Given the description of an element on the screen output the (x, y) to click on. 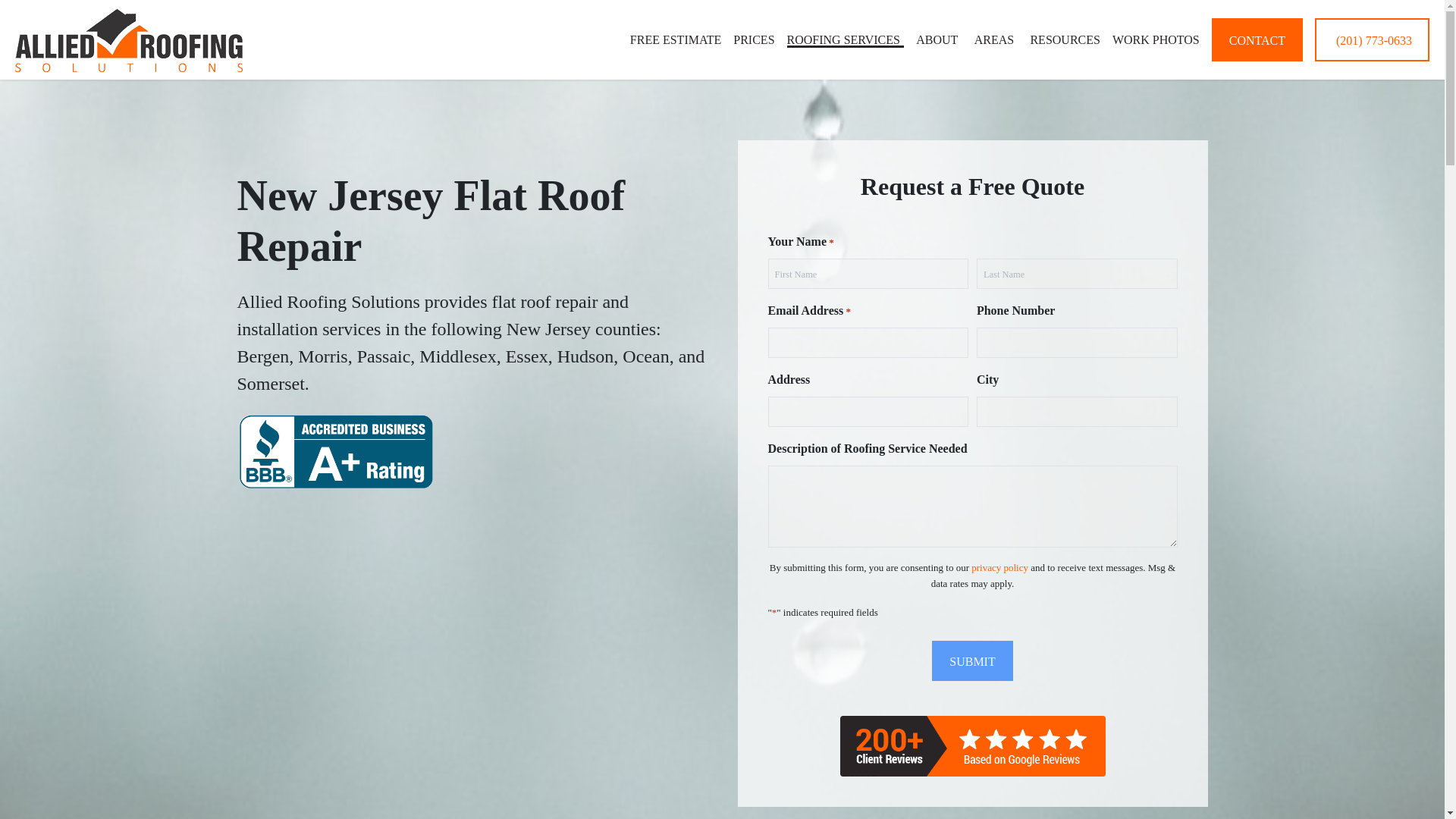
RESOURCES (1064, 39)
CONTACT (1257, 39)
WORK PHOTOS (1155, 39)
ABOUT (937, 39)
ROOFING SERVICES (845, 39)
Allied Roofing Solutions (128, 40)
AREAS (995, 39)
FREE ESTIMATE (675, 39)
PRICES (753, 39)
Submit Form (971, 660)
